Given the description of an element on the screen output the (x, y) to click on. 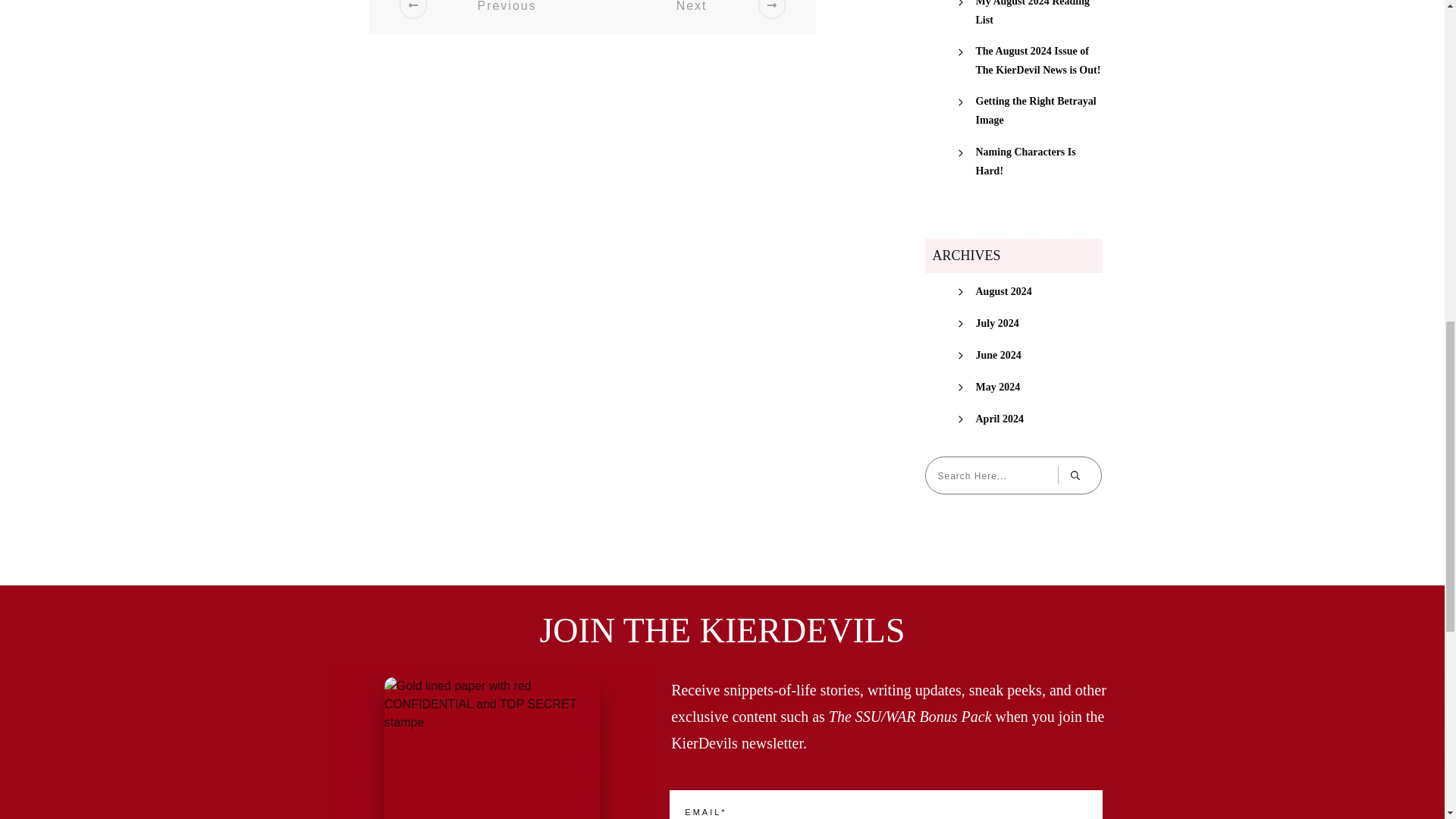
April 2024 (999, 418)
Previous (486, 17)
The August 2024 Issue of The KierDevil News is Out! (1037, 60)
Next (711, 17)
August 2024 (1002, 291)
June 2024 (997, 354)
My August 2024 Reading List (1037, 14)
Naming Characters Is Hard! (1037, 161)
Getting the Right Betrayal Image (1037, 110)
May 2024 (997, 386)
